Given the description of an element on the screen output the (x, y) to click on. 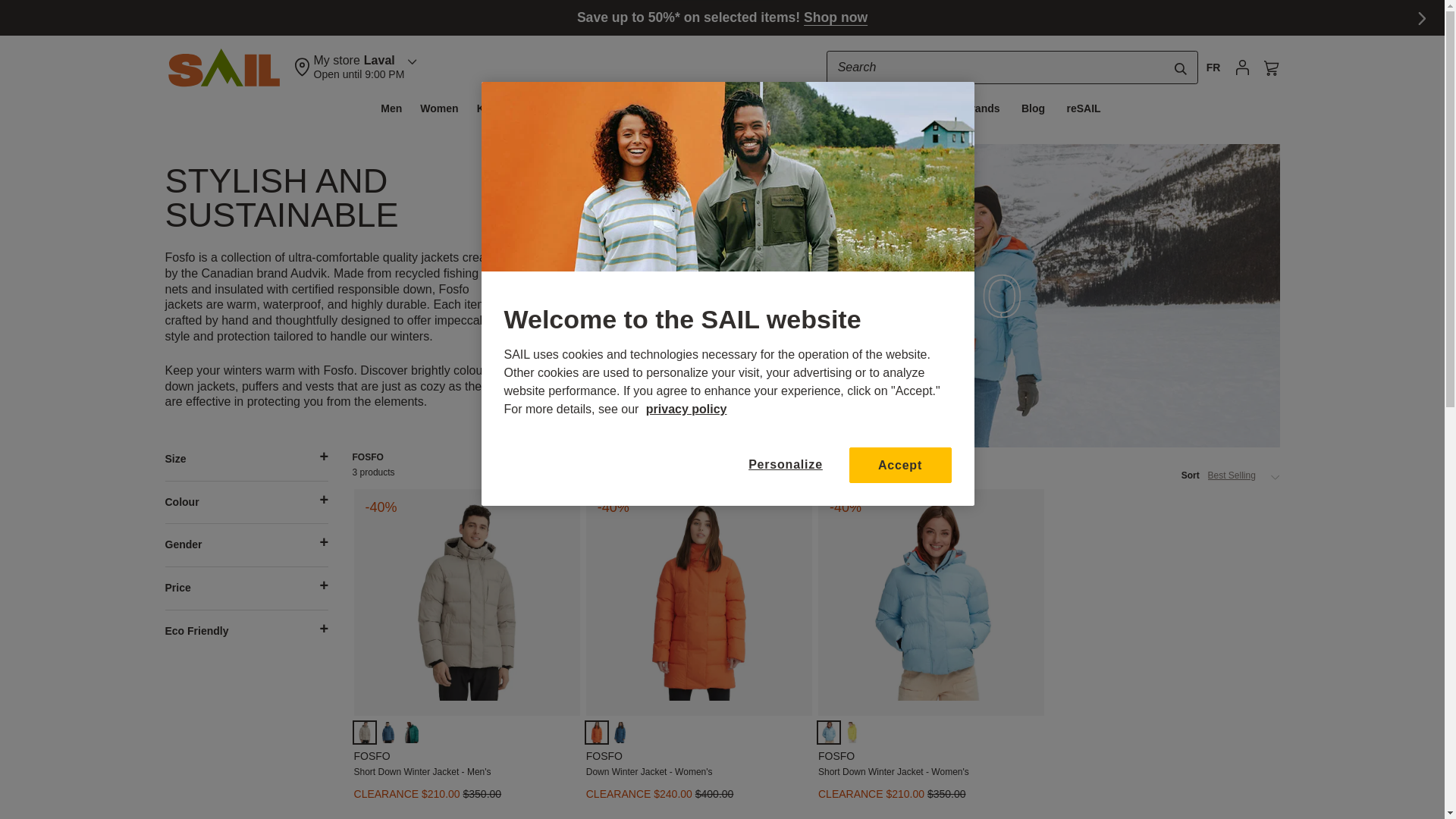
Shop now (835, 17)
Men (390, 108)
Search (1012, 67)
Search (354, 66)
Next (1180, 69)
FR (1424, 21)
Brands (1214, 67)
Account (980, 108)
Sail Plein Air (1241, 67)
